Given the description of an element on the screen output the (x, y) to click on. 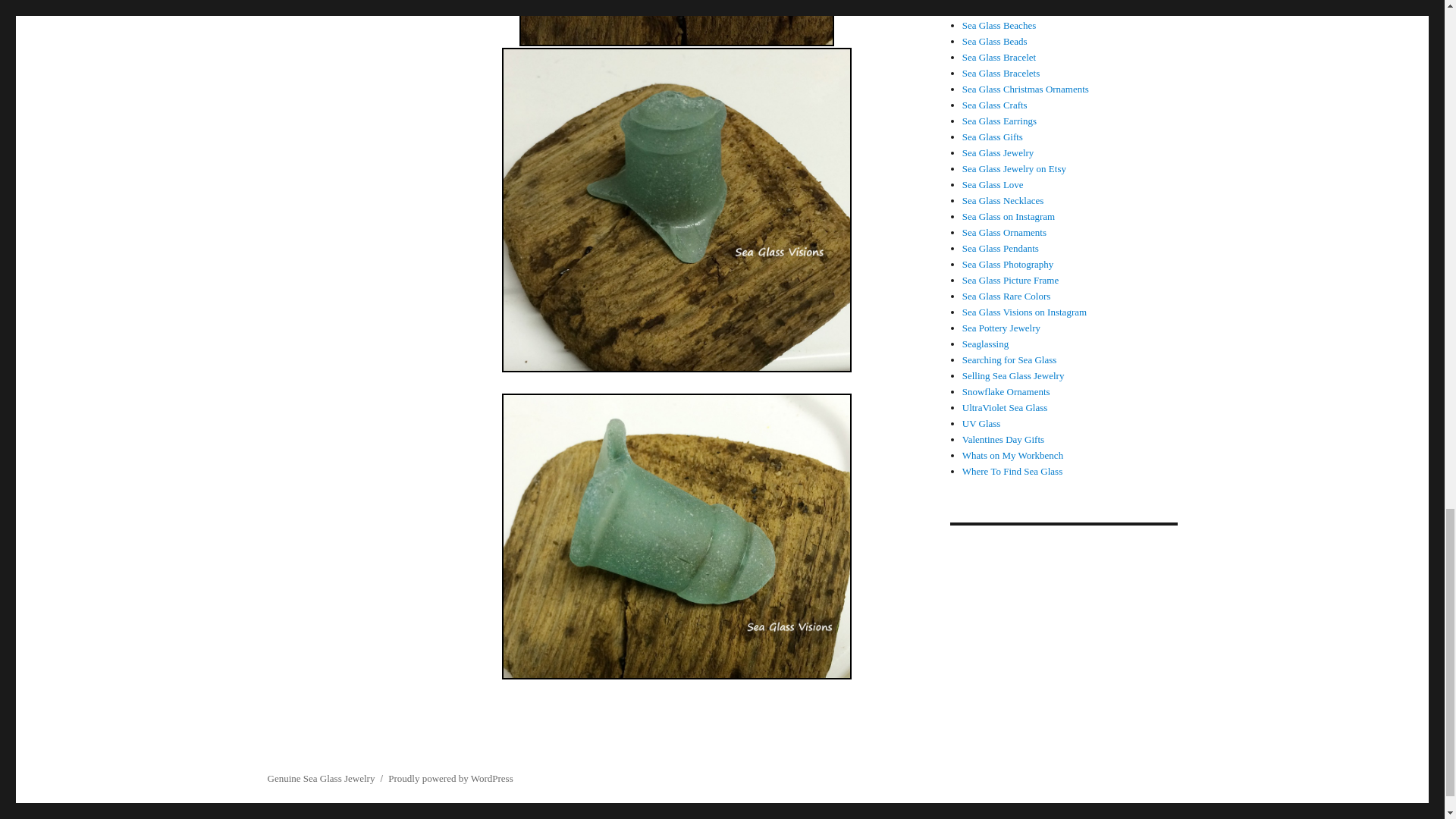
Bottle Neck (676, 535)
Bottle Neck (676, 209)
